Given the description of an element on the screen output the (x, y) to click on. 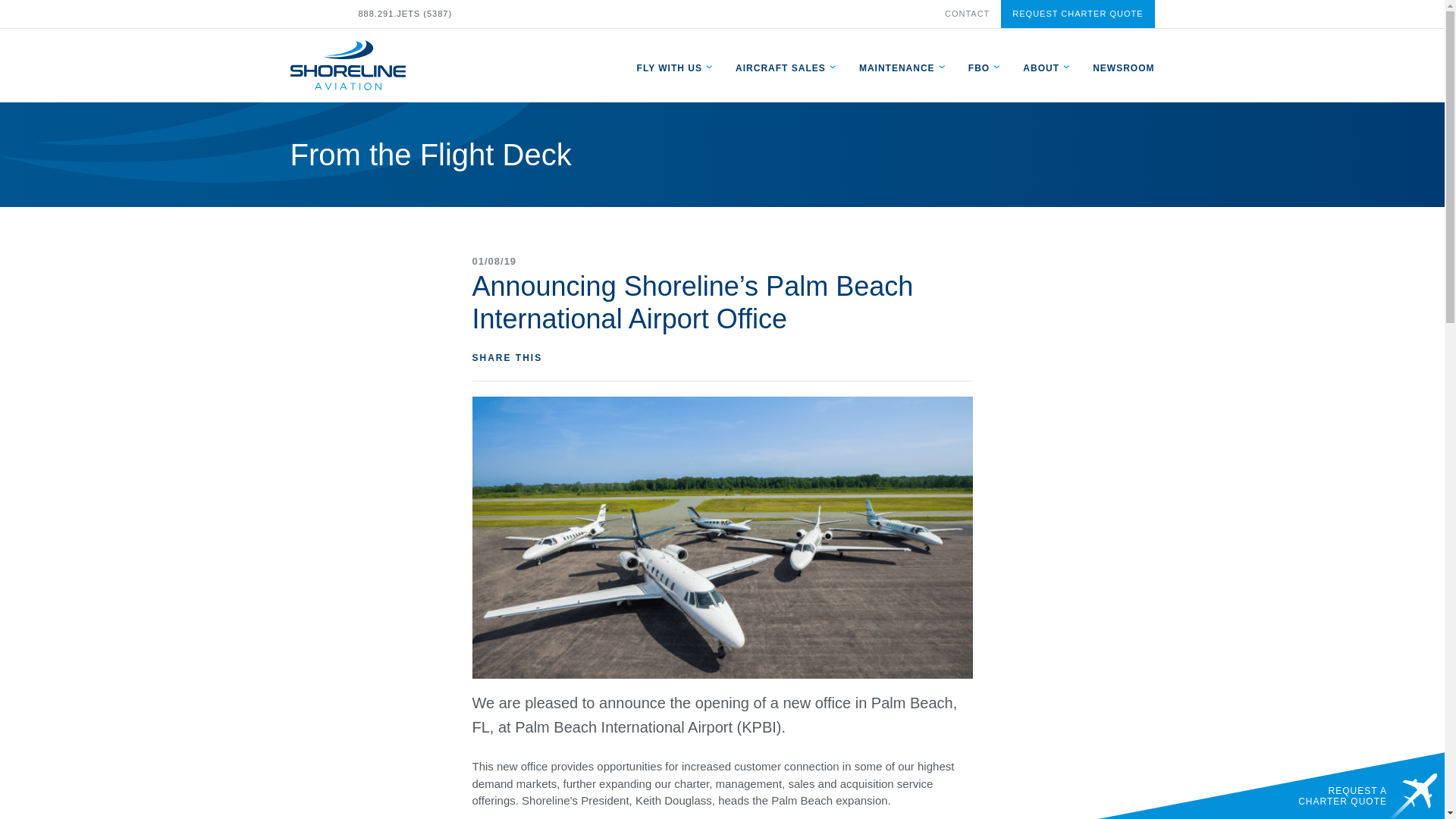
FLY WITH US (669, 67)
ABOUT (1041, 67)
CONTACT (967, 13)
NEWSROOM (1123, 67)
AIRCRAFT SALES (780, 67)
FBO (979, 67)
REQUEST CHARTER QUOTE (1077, 13)
MAINTENANCE (896, 67)
